Given the description of an element on the screen output the (x, y) to click on. 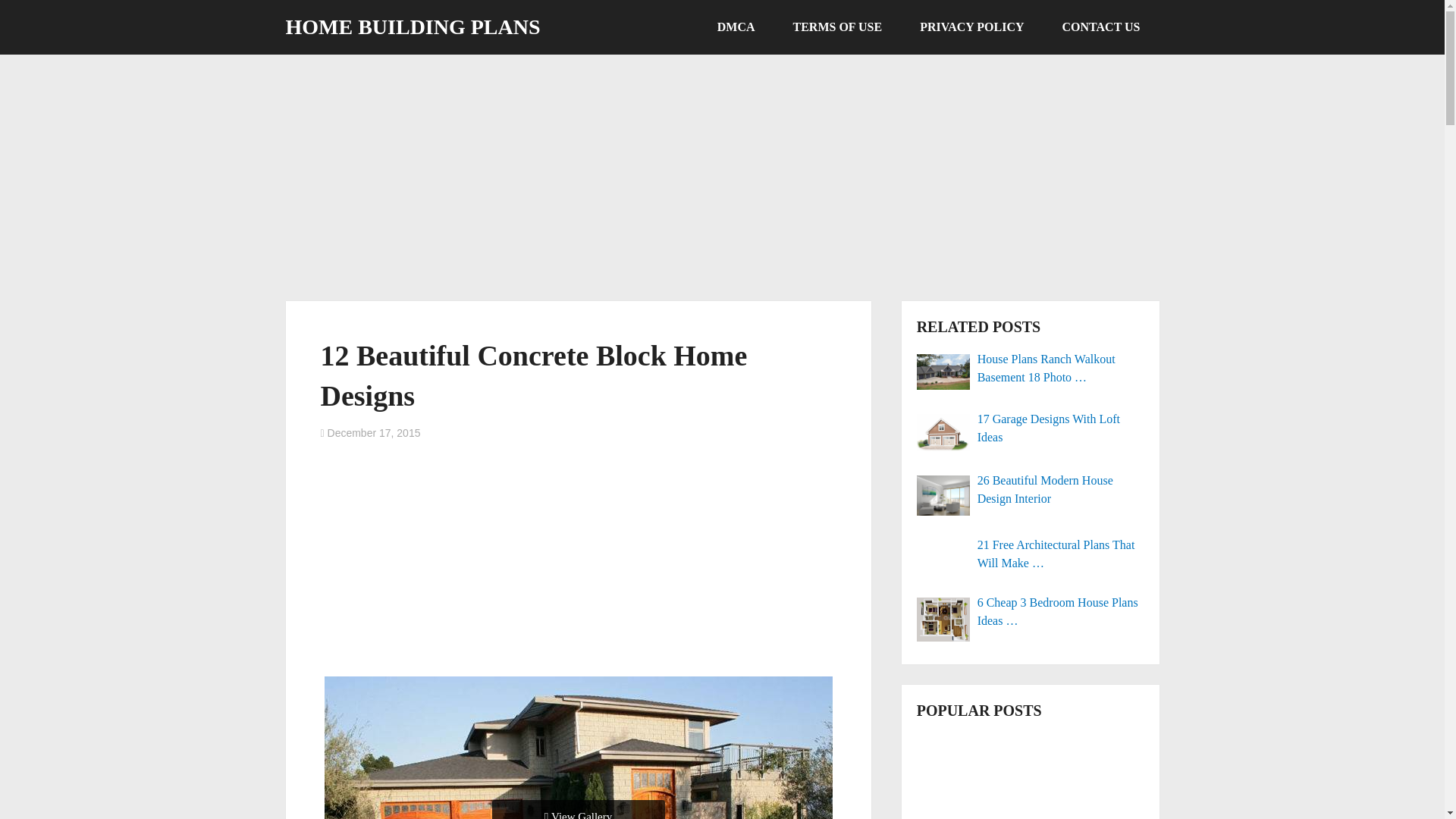
17 Garage Designs With Loft Ideas (1030, 428)
PRIVACY POLICY (971, 27)
Concrete Block Residential Homes Benefits Building (578, 747)
Advertisement (577, 562)
House Plans Ranch Walkout Basement 18 Photo Gallery (1030, 368)
DMCA (736, 27)
HOME BUILDING PLANS (412, 26)
TERMS OF USE (837, 27)
CONTACT US (1100, 27)
26 Beautiful Modern House Design Interior (1030, 489)
26 Beautiful Modern House Design Interior (1030, 489)
17 Garage Designs With Loft Ideas (1030, 428)
